Given the description of an element on the screen output the (x, y) to click on. 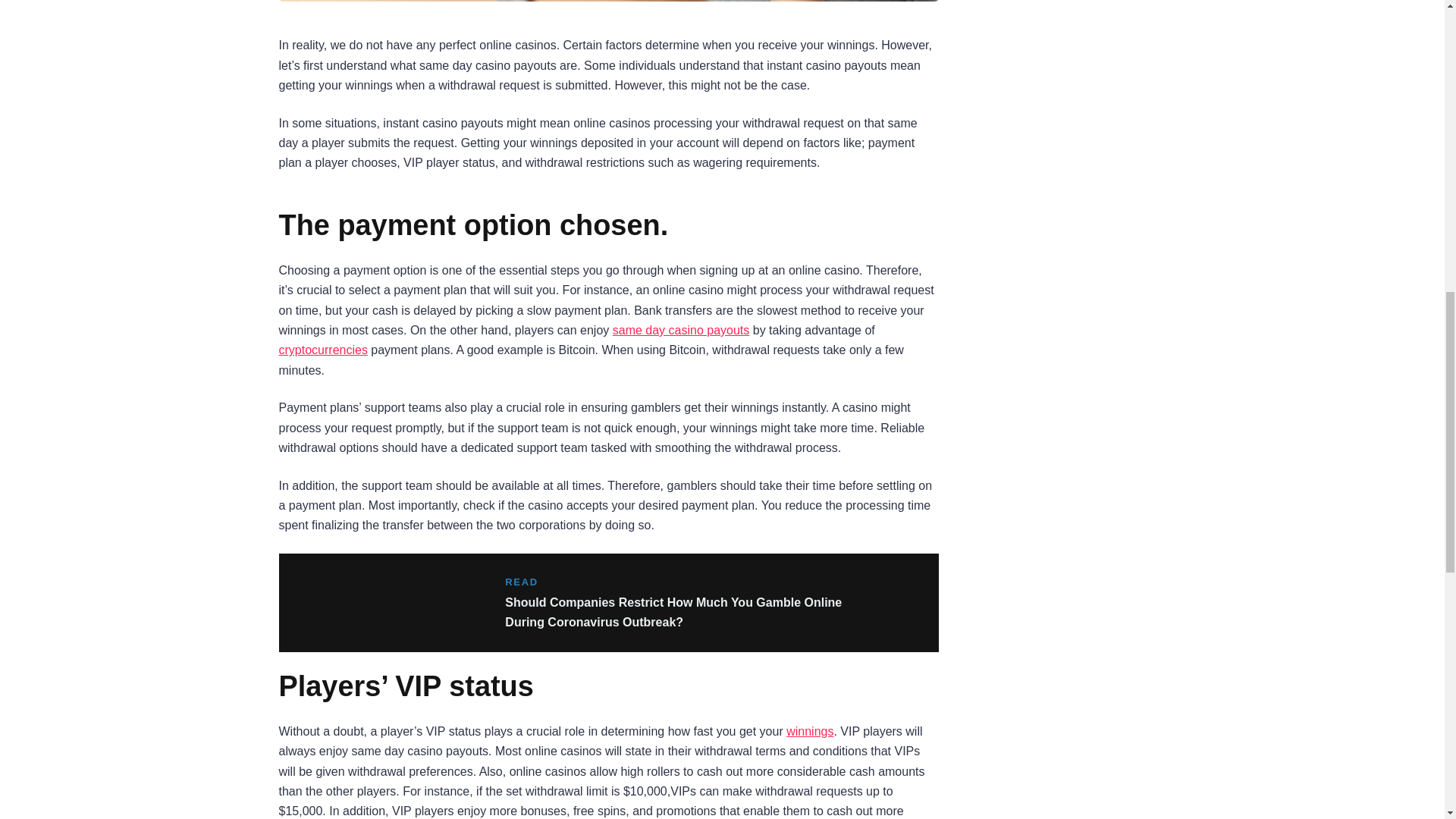
cryptocurrencies (323, 349)
same day casino payouts (680, 329)
winnings (809, 730)
